Given the description of an element on the screen output the (x, y) to click on. 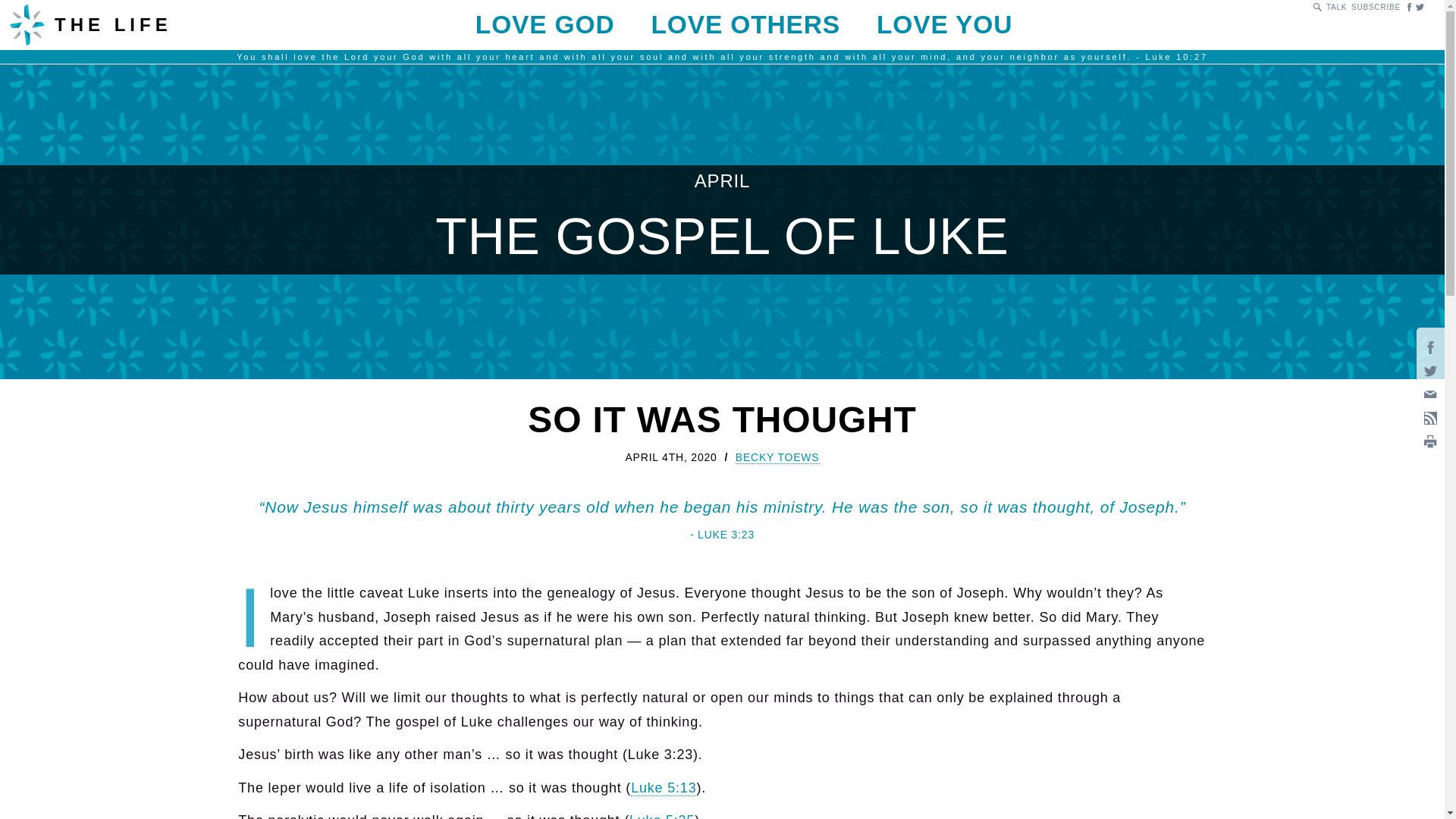
Share on Twitter (1430, 369)
SUBSCRIBE (1375, 7)
Subscribe (1430, 418)
Share by Email (1430, 393)
LOVE YOU (943, 24)
Print Page (1430, 440)
LOVE OTHERS (745, 24)
LOVE GOD (545, 24)
Luke 5:25 (661, 816)
Share on Facebook (1430, 346)
BECKY TOEWS (777, 457)
THE LIFE (184, 24)
Luke 5:13 (662, 788)
TALK (1336, 7)
